Given the description of an element on the screen output the (x, y) to click on. 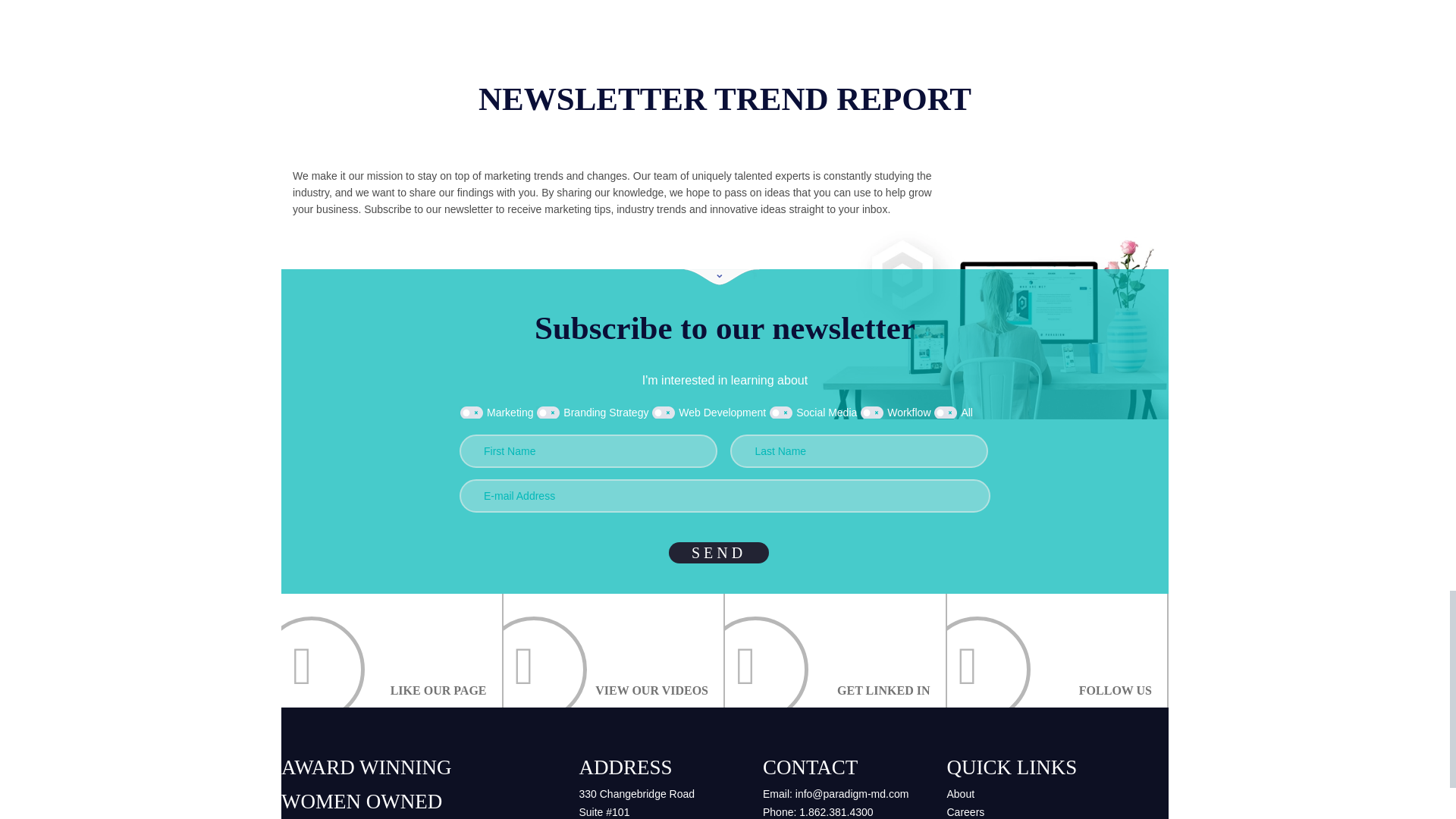
SEND (718, 552)
